Given the description of an element on the screen output the (x, y) to click on. 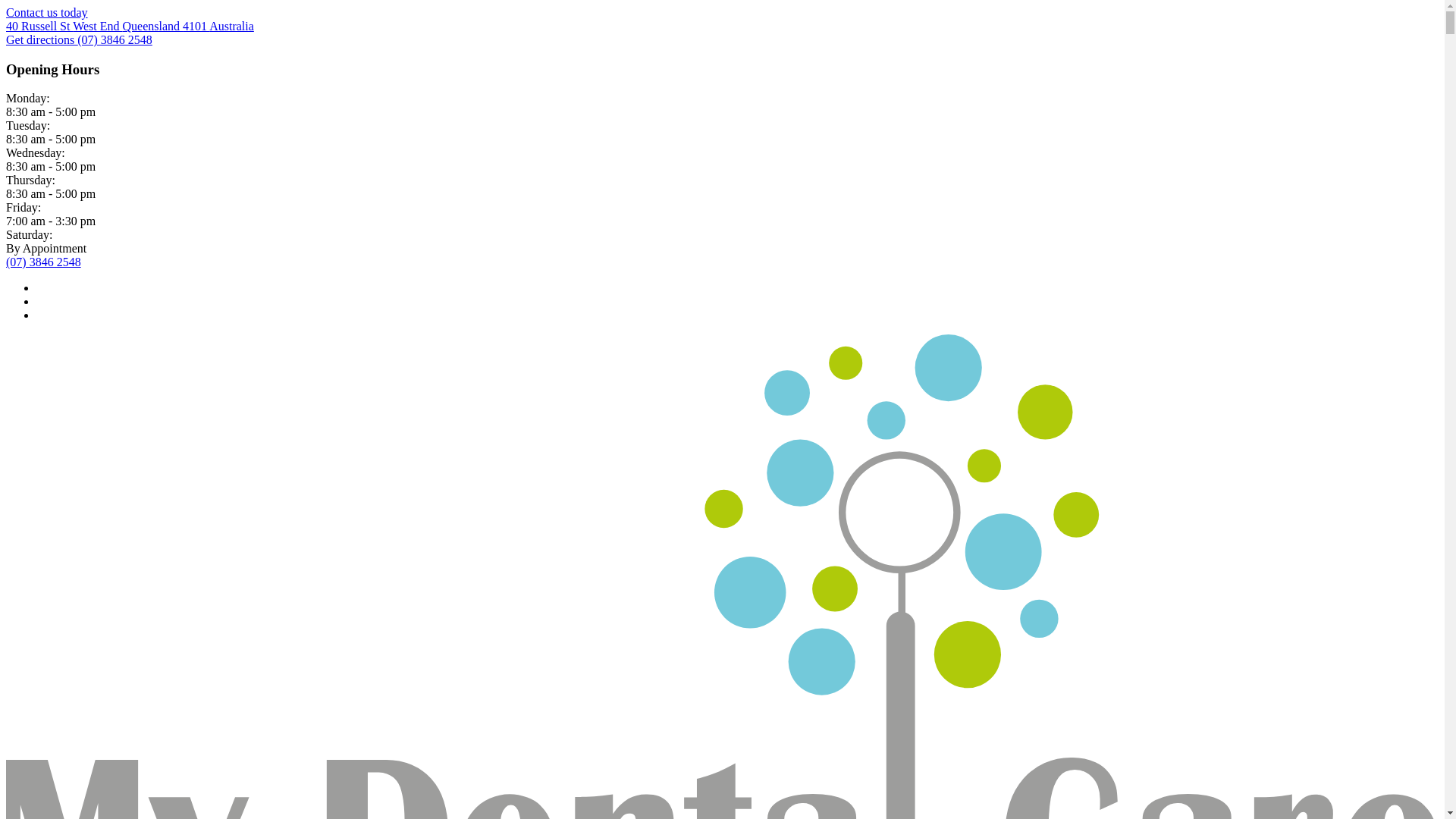
Get directions Element type: text (41, 39)
(07) 3846 2548 Element type: text (43, 261)
40 Russell St West End Queensland 4101 Australia Element type: text (130, 25)
Contact us today Element type: text (46, 12)
(07) 3846 2548 Element type: text (114, 39)
